Given the description of an element on the screen output the (x, y) to click on. 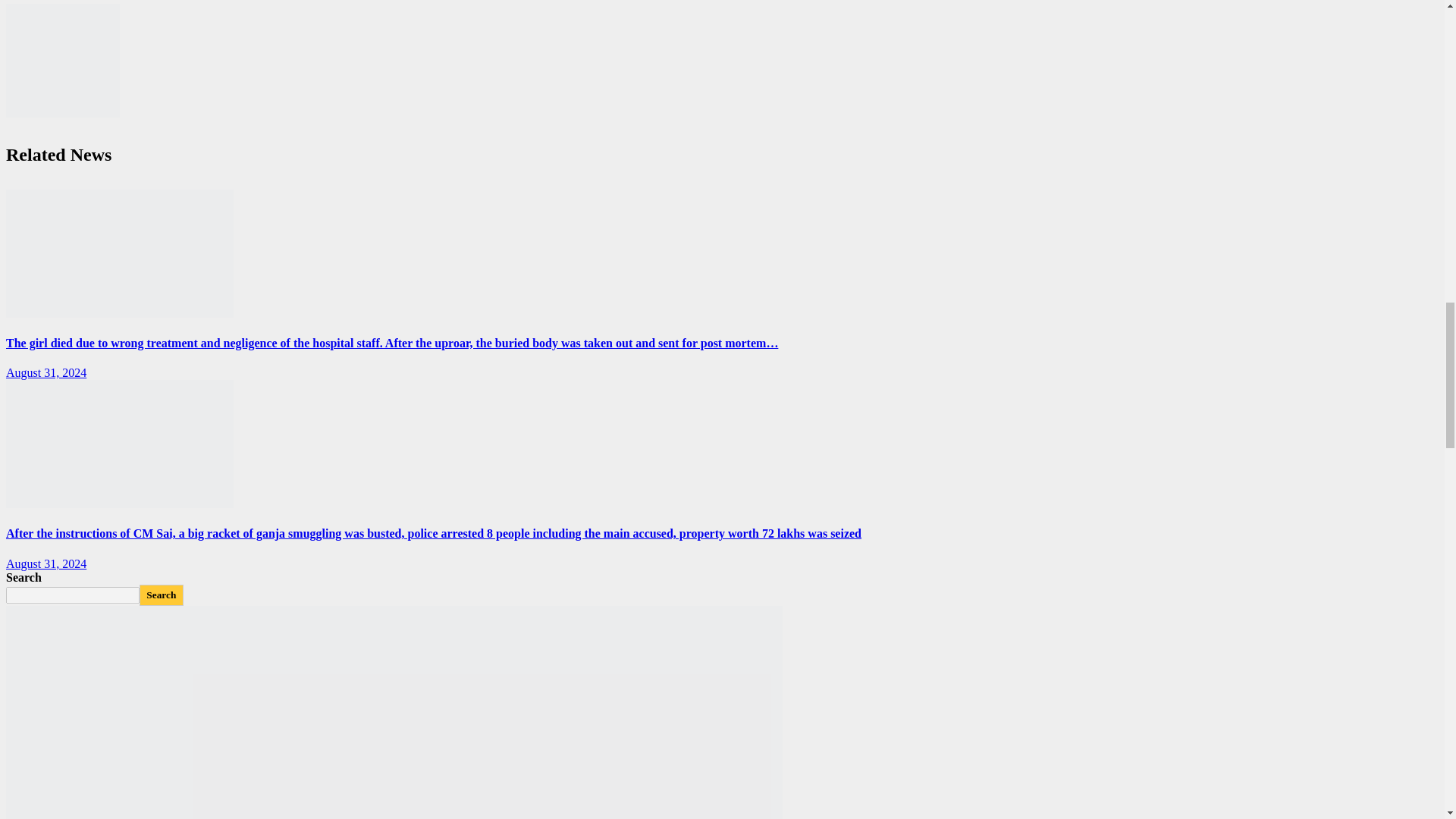
August 31, 2024 (45, 563)
August 31, 2024 (45, 372)
Search (161, 595)
